Given the description of an element on the screen output the (x, y) to click on. 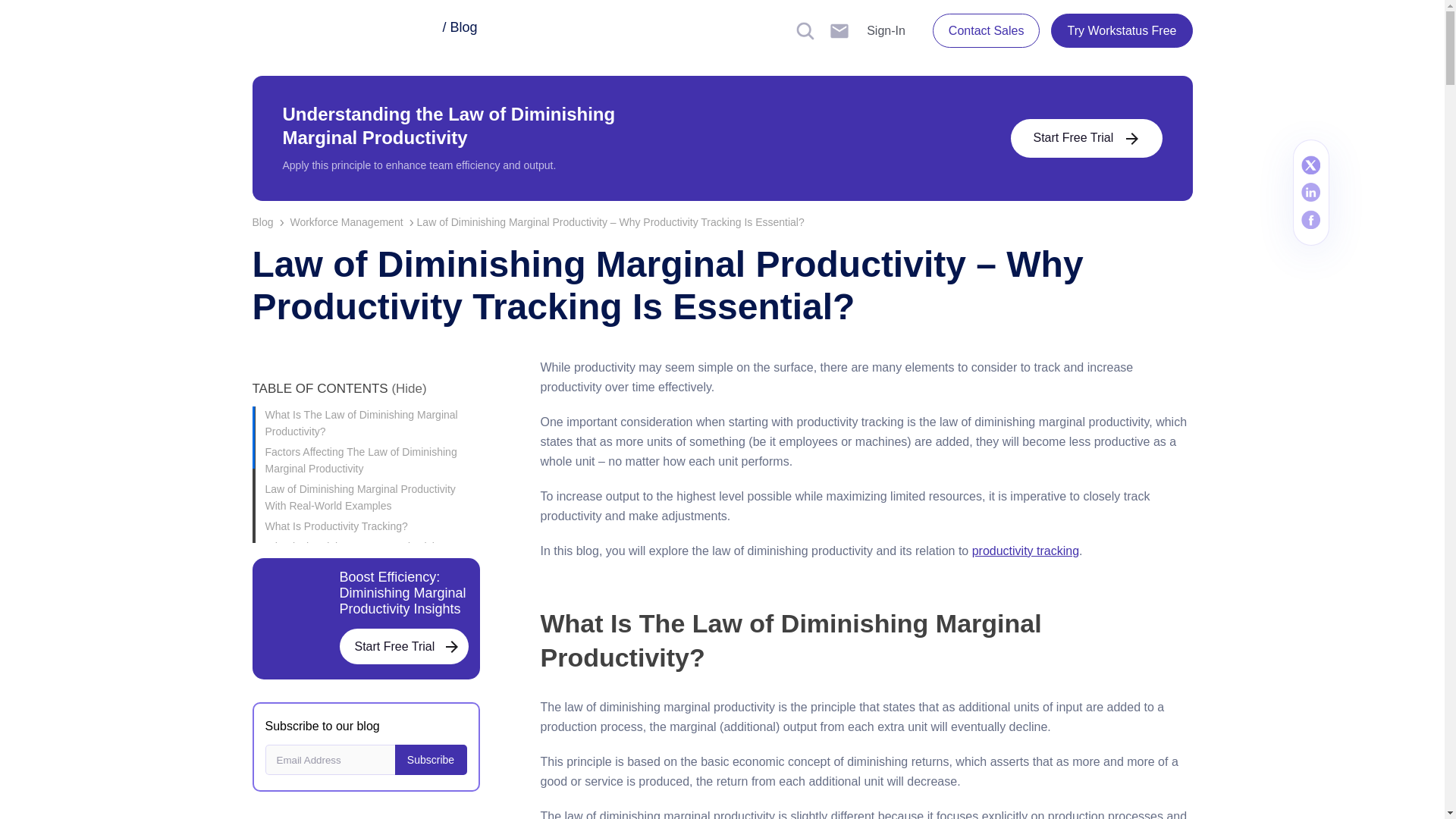
Benefits of Productivity Tracking Software- (372, 637)
Subscribe (429, 759)
Workforce Management (352, 222)
Start Free Trial (403, 646)
search (839, 30)
search (804, 30)
What Is The Law of Diminishing Marginal Productivity?  (372, 422)
